Given the description of an element on the screen output the (x, y) to click on. 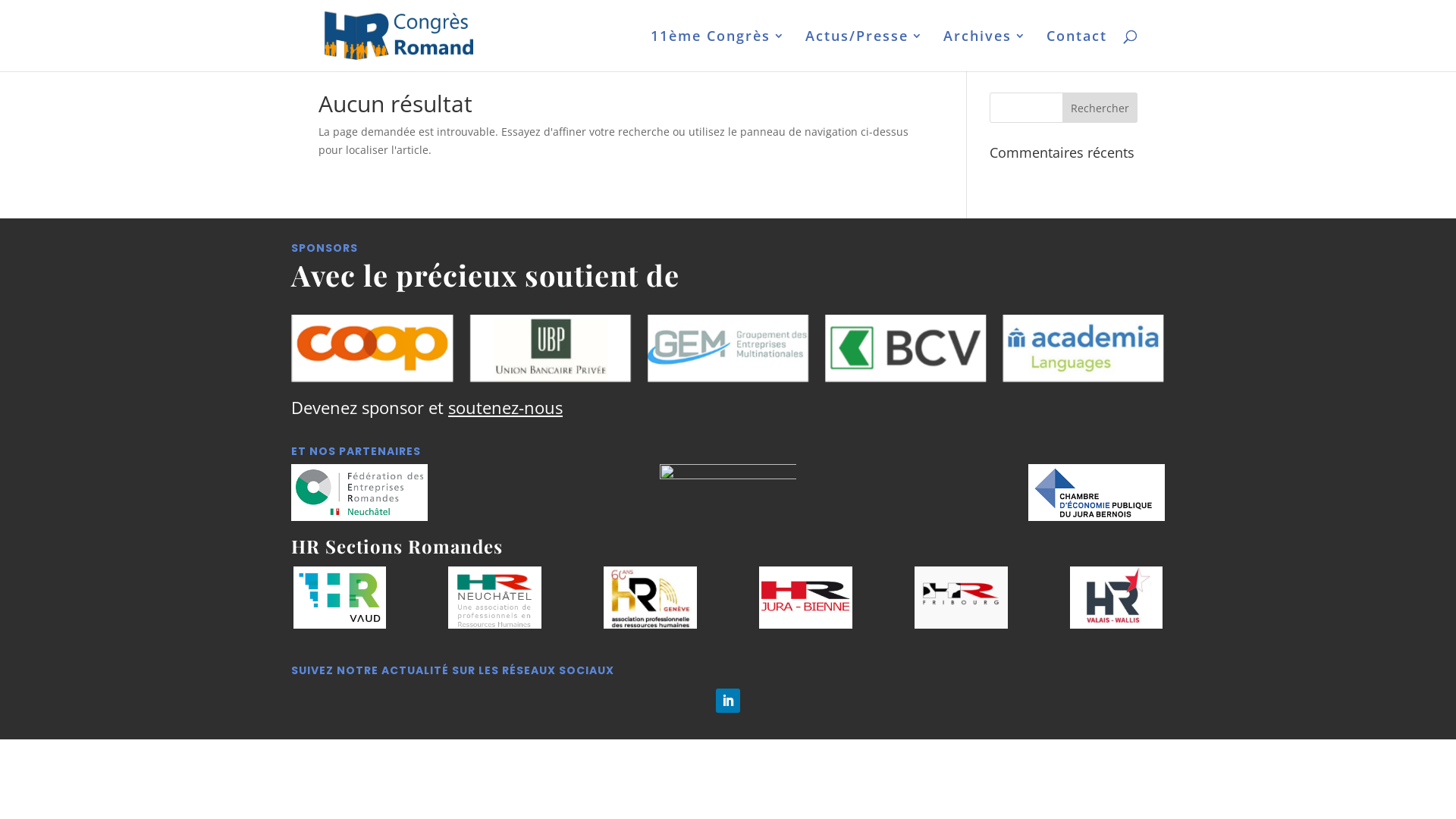
Devenez sponsor et soutenez-nous Element type: text (426, 406)
Actus/Presse Element type: text (864, 50)
Archives Element type: text (984, 50)
CCIF logo Element type: hover (727, 492)
Rechercher Element type: text (1099, 107)
Contact Element type: text (1076, 50)
Suivez sur LinkedIn Element type: hover (727, 700)
